Given the description of an element on the screen output the (x, y) to click on. 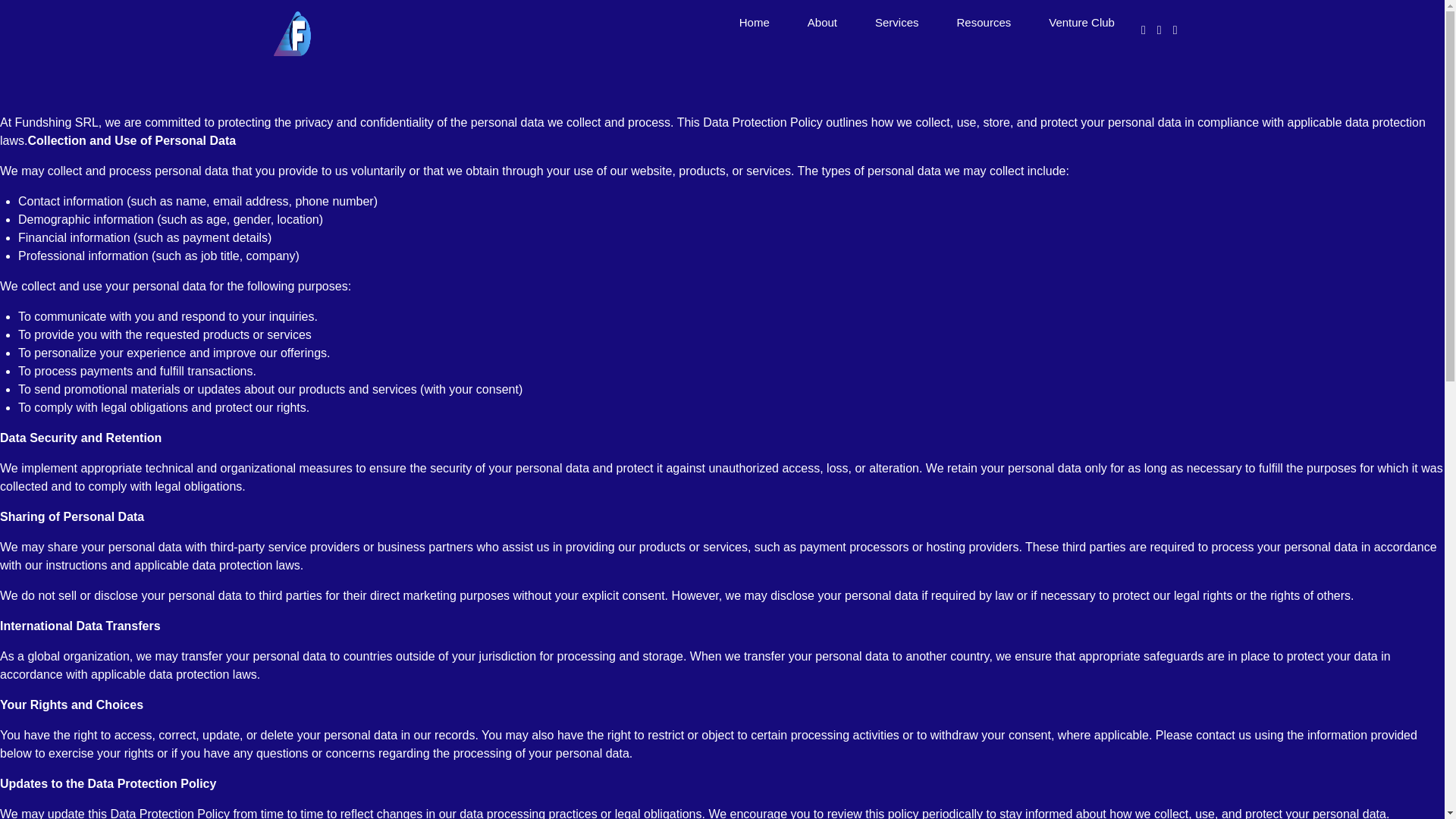
About (821, 22)
Home (753, 22)
Resources (984, 22)
Venture Club (1081, 22)
Services (897, 22)
